Given the description of an element on the screen output the (x, y) to click on. 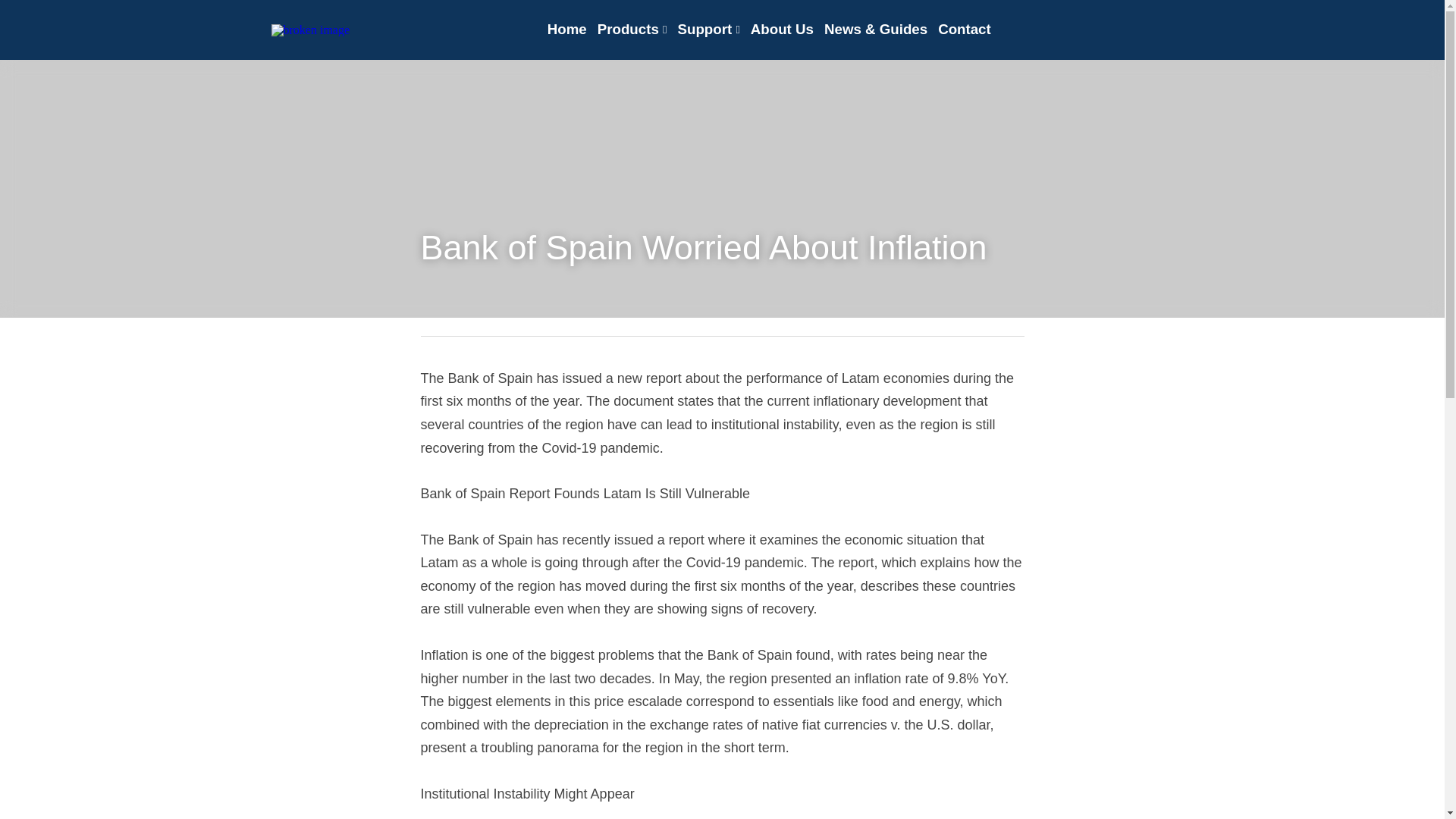
Home (566, 28)
About Us (782, 28)
Contact (964, 28)
